Given the description of an element on the screen output the (x, y) to click on. 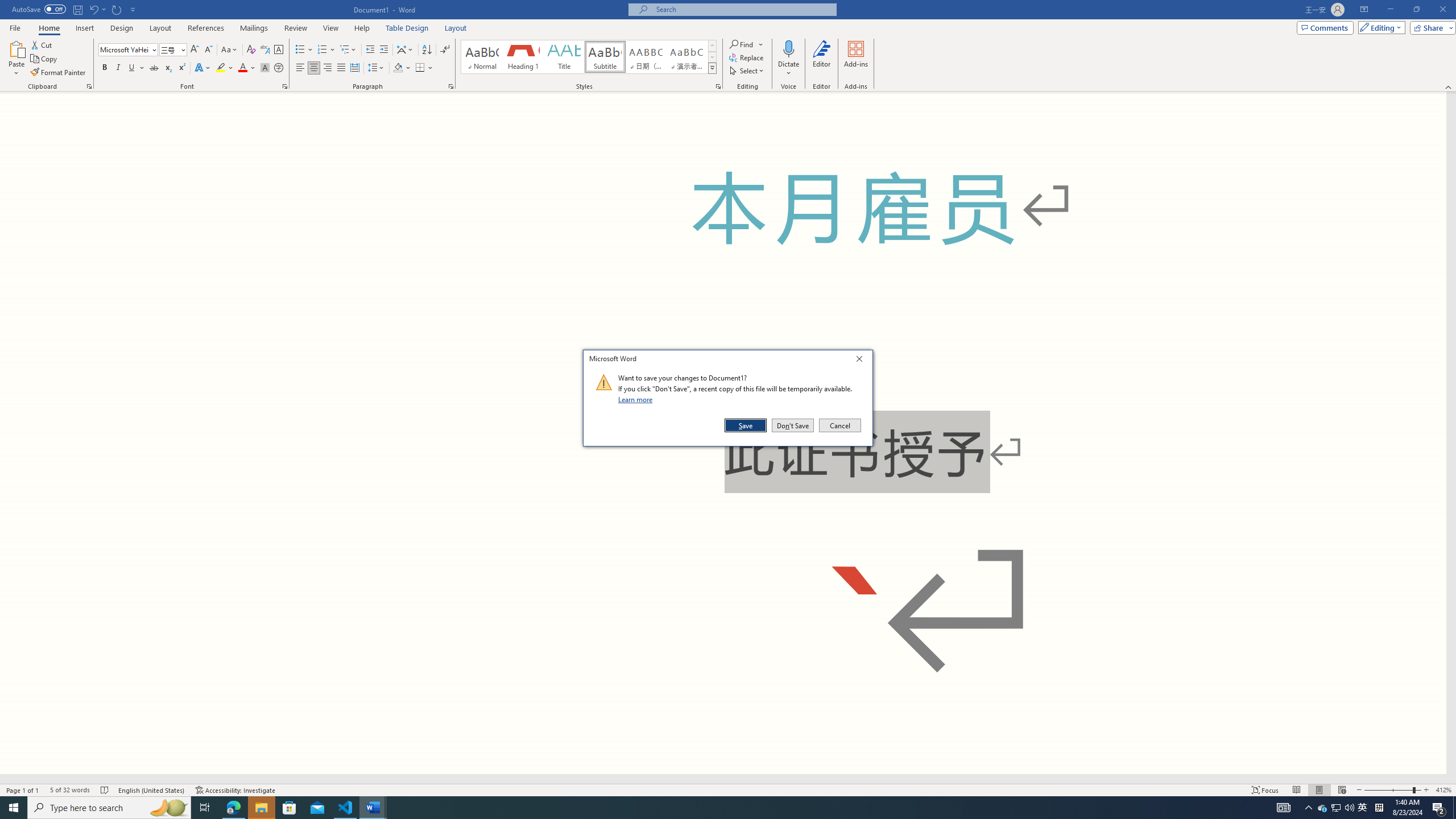
Comments (1325, 27)
Shrink Font (208, 49)
Select (747, 69)
Zoom In (1426, 790)
Font (124, 49)
Microsoft Store (289, 807)
Paste (16, 48)
Replace... (747, 56)
Italic (118, 67)
Start (13, 807)
Customize Quick Access Toolbar (133, 9)
Cancel (839, 425)
Ribbon Display Options (1364, 9)
Review (295, 28)
